Given the description of an element on the screen output the (x, y) to click on. 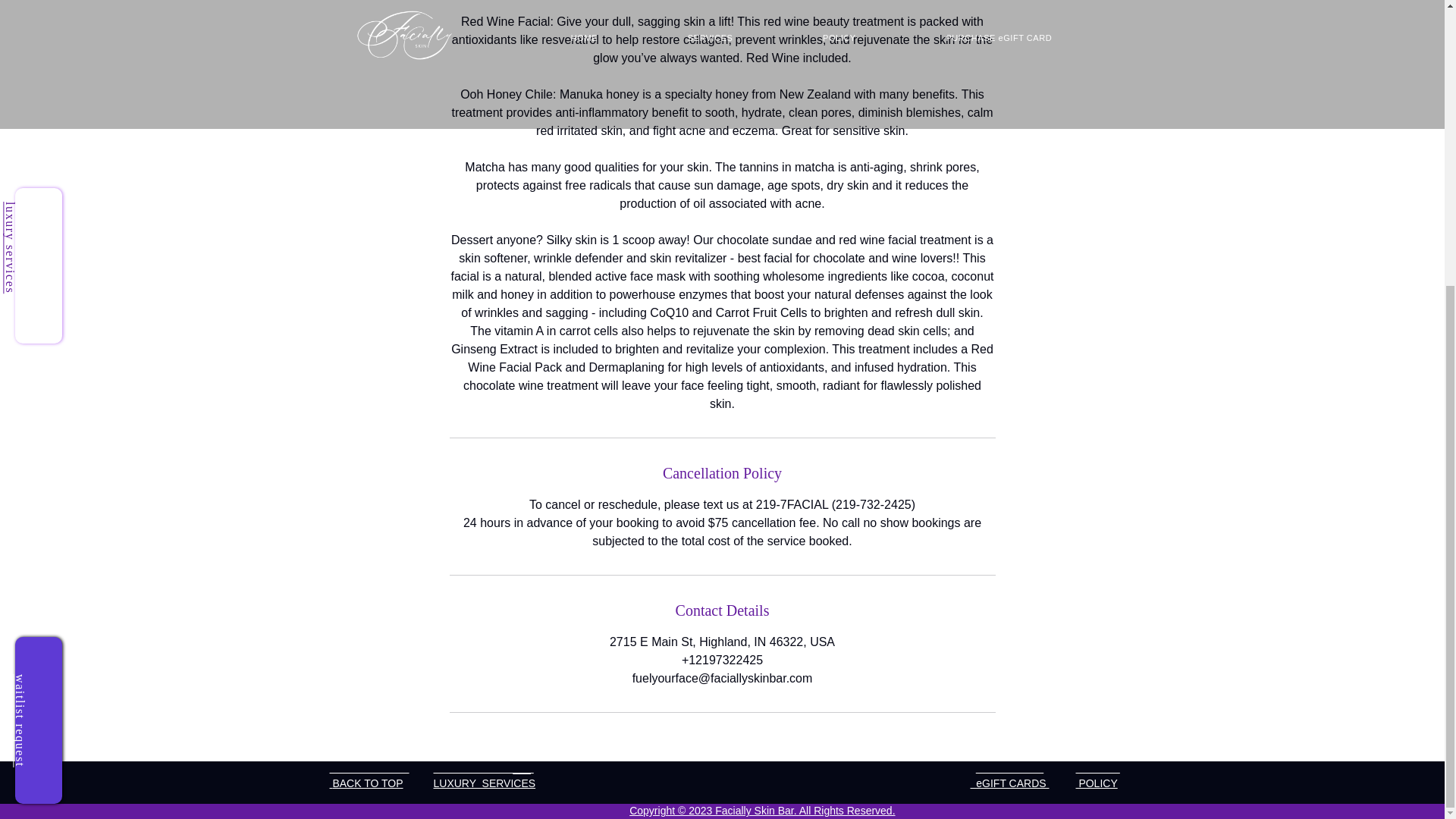
  eGIFT CARDS  (1010, 783)
waitlist request (19, 289)
 POLICY (1095, 783)
BACK TO TOP (367, 783)
